Given the description of an element on the screen output the (x, y) to click on. 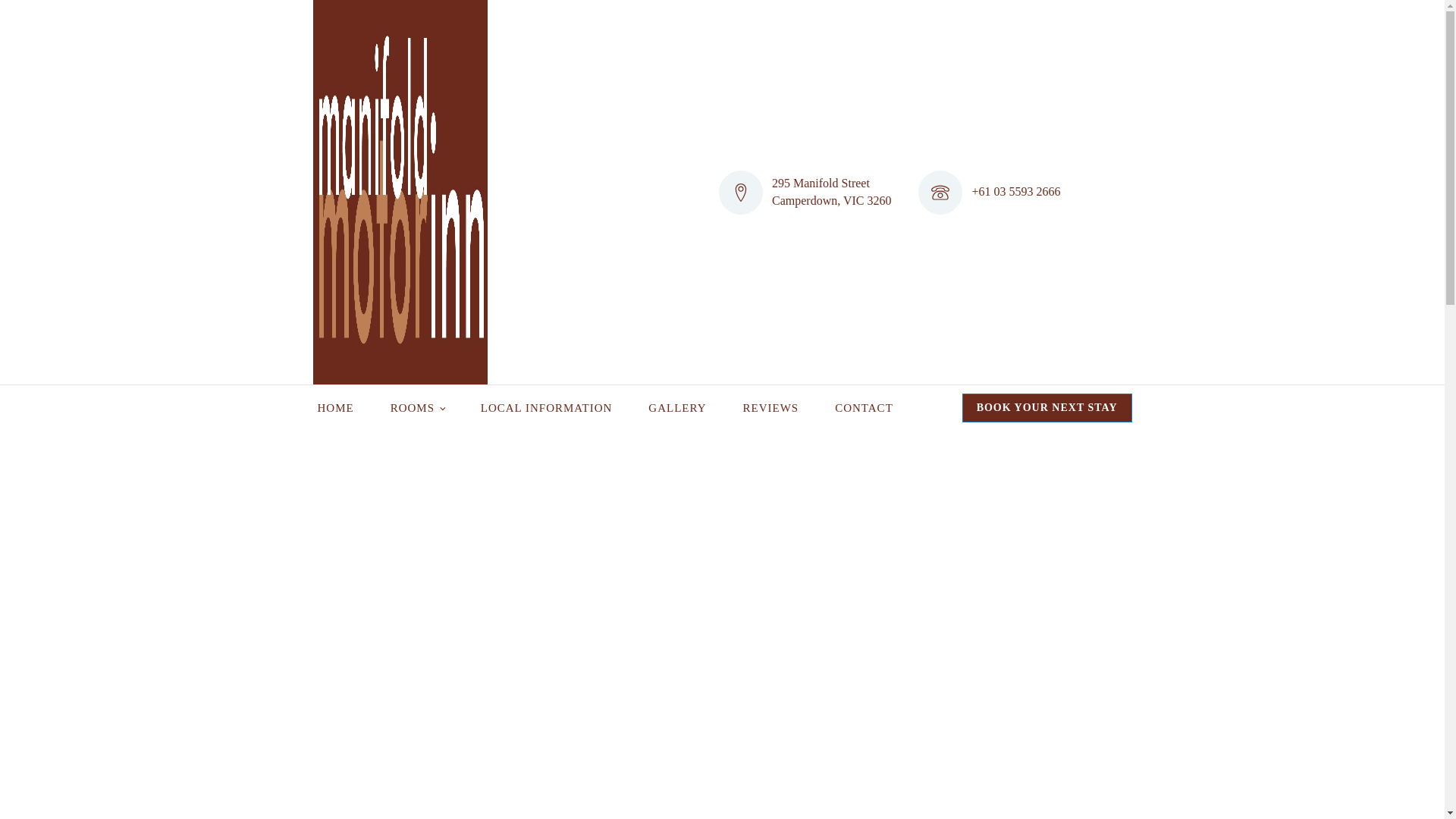
LOCAL INFORMATION Element type: text (546, 407)
CONTACT Element type: text (863, 407)
ROOMS Element type: text (417, 407)
GALLERY Element type: text (677, 407)
BOOK YOUR NEXT STAY Element type: text (1047, 408)
HOME Element type: text (334, 407)
+61 03 5593 2666 Element type: text (1015, 191)
REVIEWS Element type: text (770, 407)
